Given the description of an element on the screen output the (x, y) to click on. 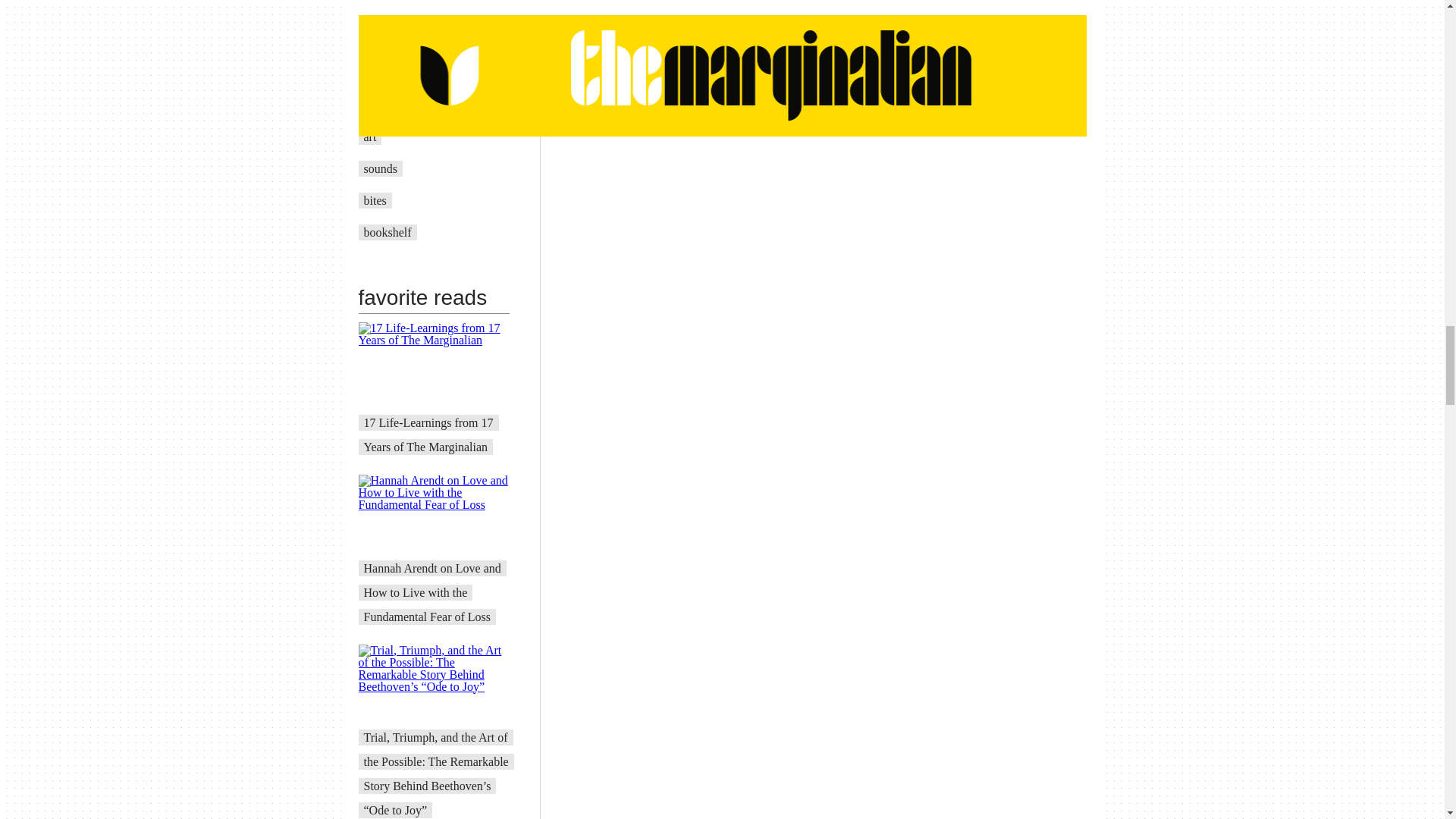
bites (375, 200)
A Velocity of Being (412, 105)
sounds (380, 168)
